Given the description of an element on the screen output the (x, y) to click on. 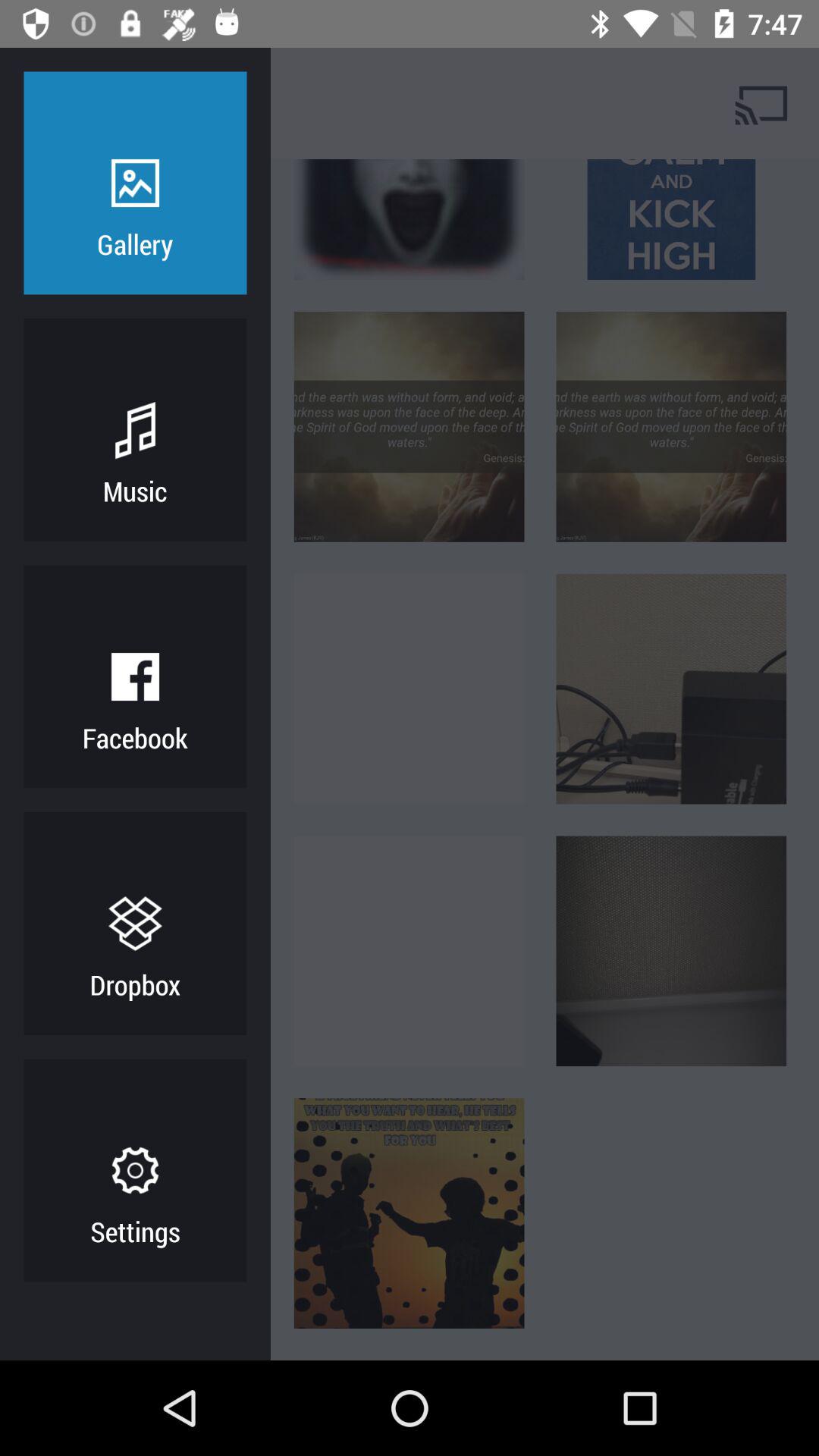
cast screen on tv (763, 103)
